Given the description of an element on the screen output the (x, y) to click on. 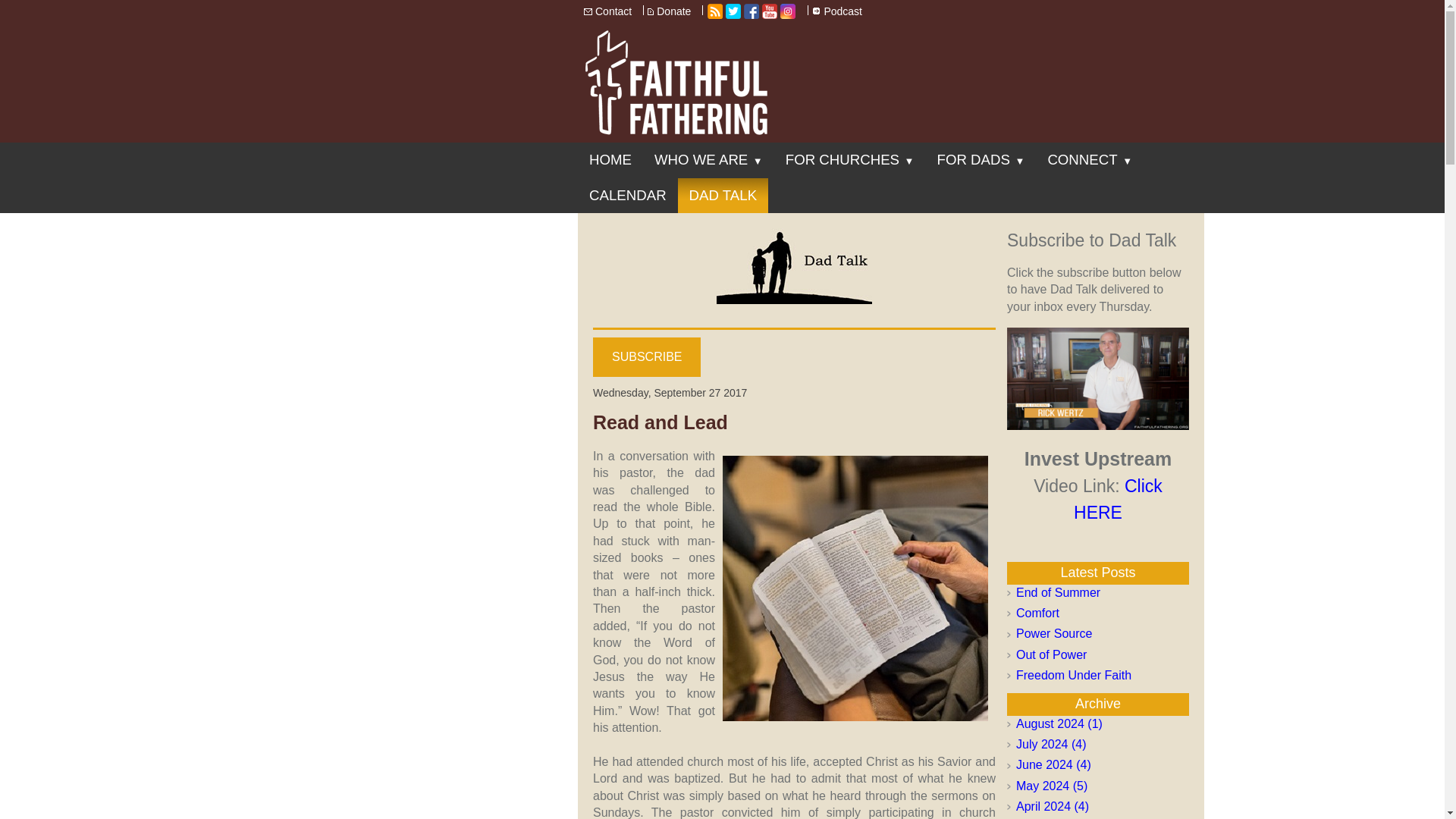
WHO WE ARE (708, 159)
FOR CHURCHES (850, 159)
Podcast (843, 11)
Donate (674, 11)
FOR DADS (981, 159)
Contact (614, 11)
Click HERE (1098, 501)
HOME (610, 159)
SUBSCRIBE (646, 356)
Comfort (1098, 613)
